Given the description of an element on the screen output the (x, y) to click on. 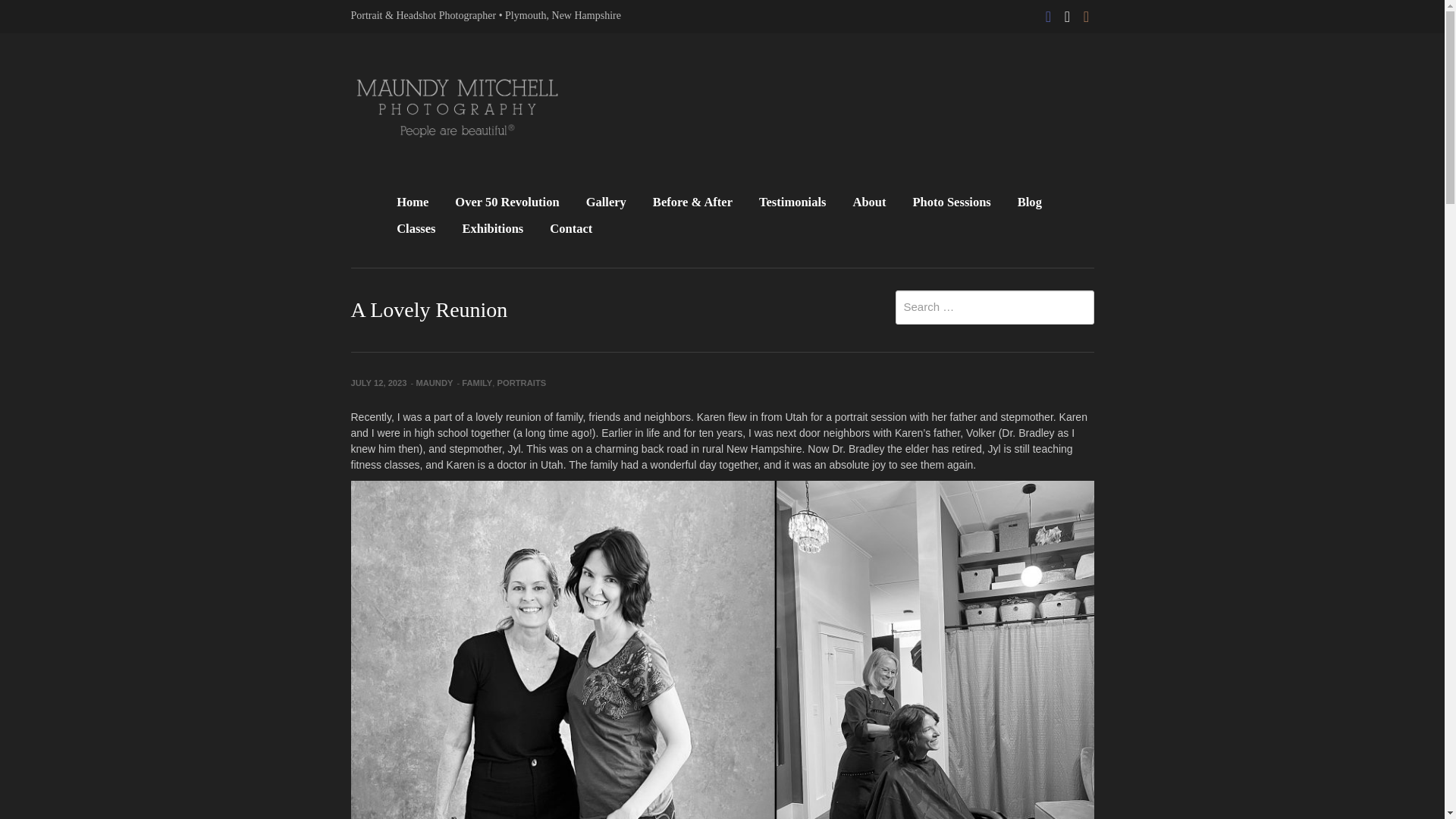
Classes (415, 229)
Testimonials (791, 203)
Gallery (606, 203)
Contact (571, 229)
2:39 pm (378, 382)
Maundy Mitchell Photography (456, 107)
Maundy Mitchell Photography Instagram (1085, 12)
FAMILY (476, 382)
Maundy Mitchell Photography Email (1067, 12)
About (868, 203)
